Given the description of an element on the screen output the (x, y) to click on. 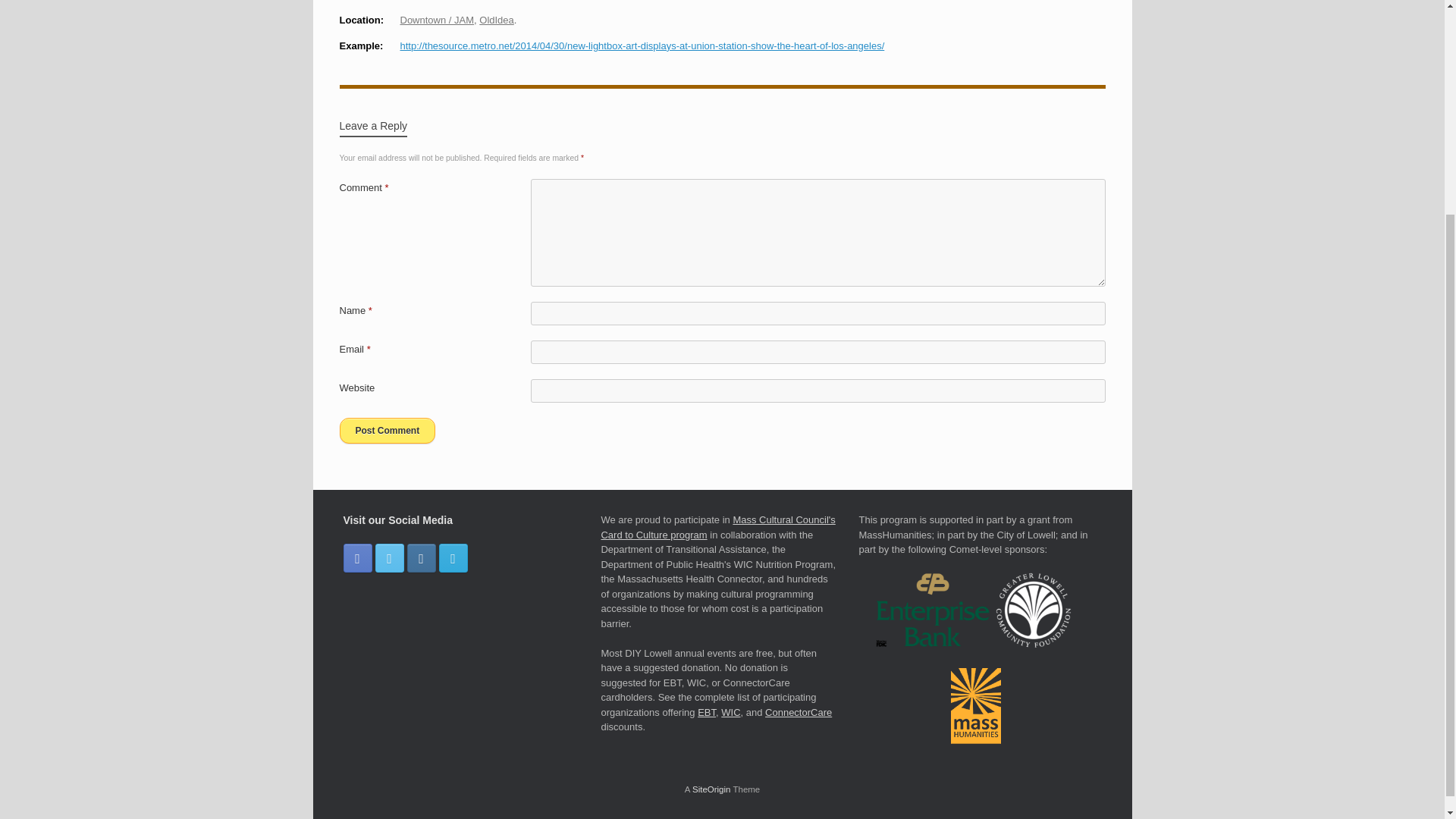
Post Comment (387, 430)
DIY Lowell Instagram (420, 557)
DIY Lowell Facebook (356, 557)
DIY Lowell Email (452, 557)
OldIdea (496, 19)
Post Comment (387, 430)
